Given the description of an element on the screen output the (x, y) to click on. 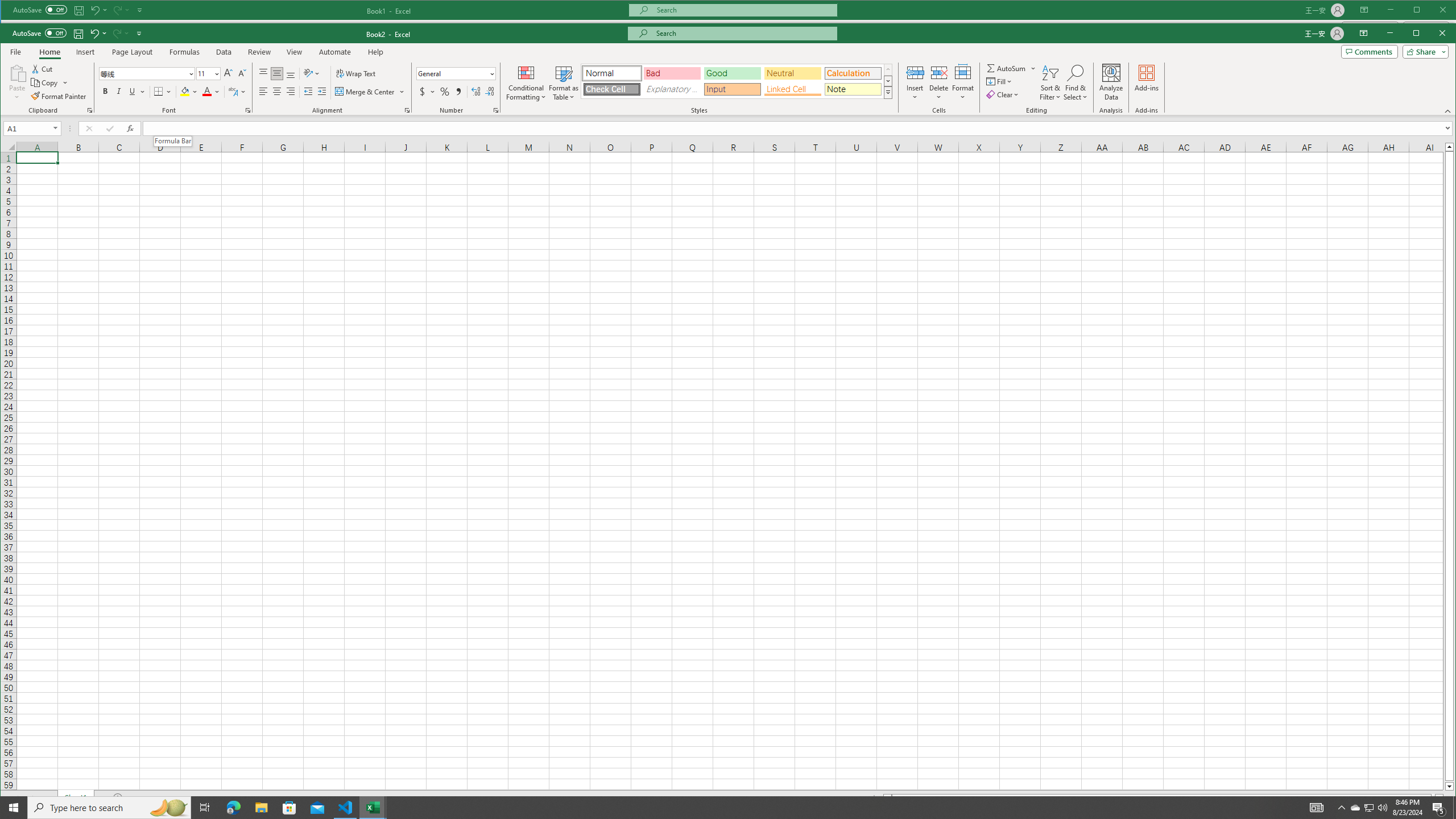
Decrease Indent (307, 91)
Insert Cells (914, 72)
Minimize (1419, 33)
Maximize (1432, 33)
Collapse the Ribbon (1448, 110)
Font Size (208, 73)
Microsoft search (742, 33)
Zoom Out (1370, 812)
Ribbon Display Options (1364, 33)
Increase Indent (321, 91)
Linked Cell (792, 89)
Format Cell Font (247, 109)
Fill Color (189, 91)
Italic (118, 91)
